Given the description of an element on the screen output the (x, y) to click on. 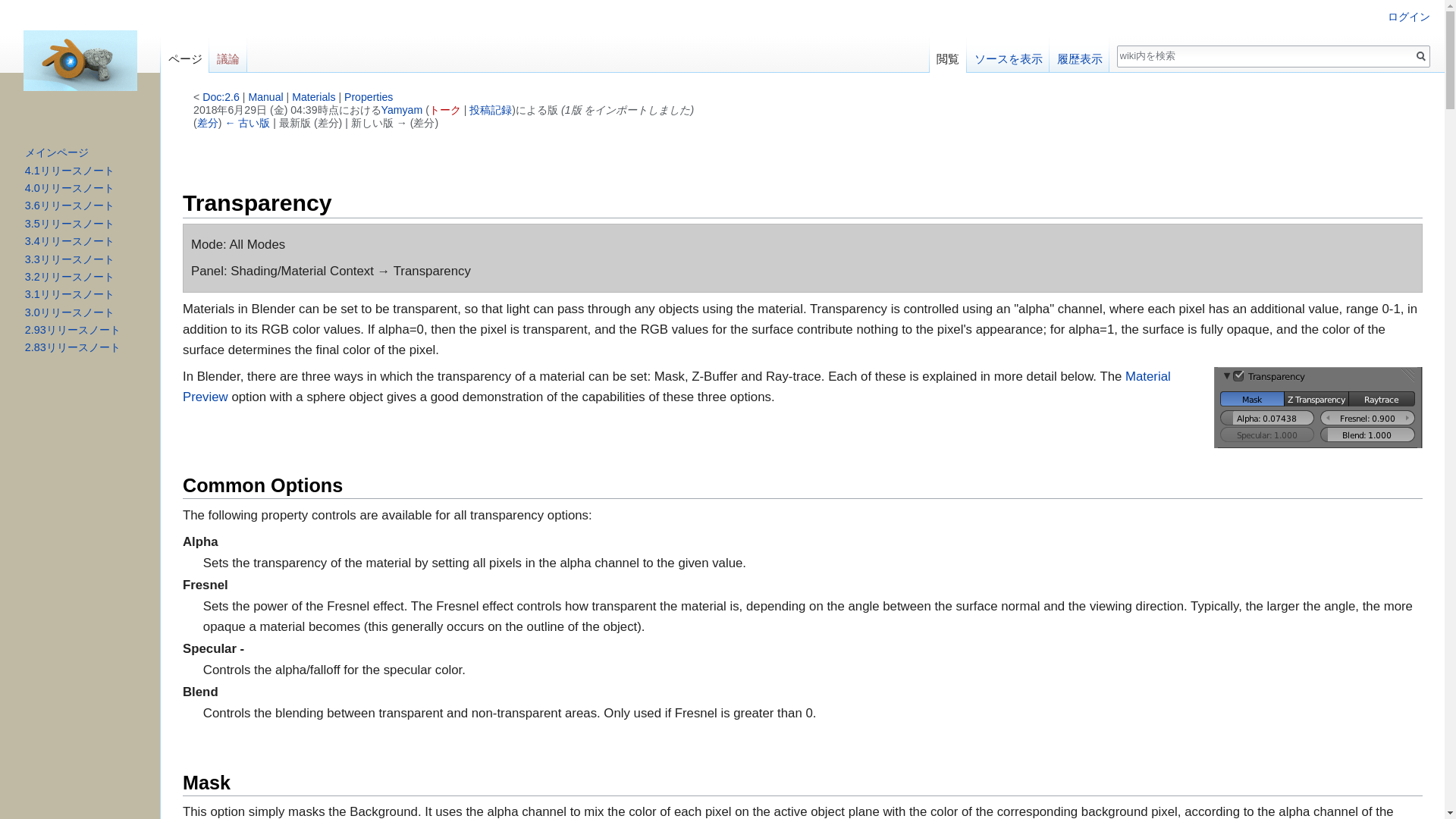
Doc:2.6 (221, 96)
Doc:2.6 (221, 96)
Yamyam (402, 110)
Properties (368, 96)
Transparency Panel (1318, 406)
Material Preview (676, 386)
Materials (313, 96)
Manual (264, 96)
